Given the description of an element on the screen output the (x, y) to click on. 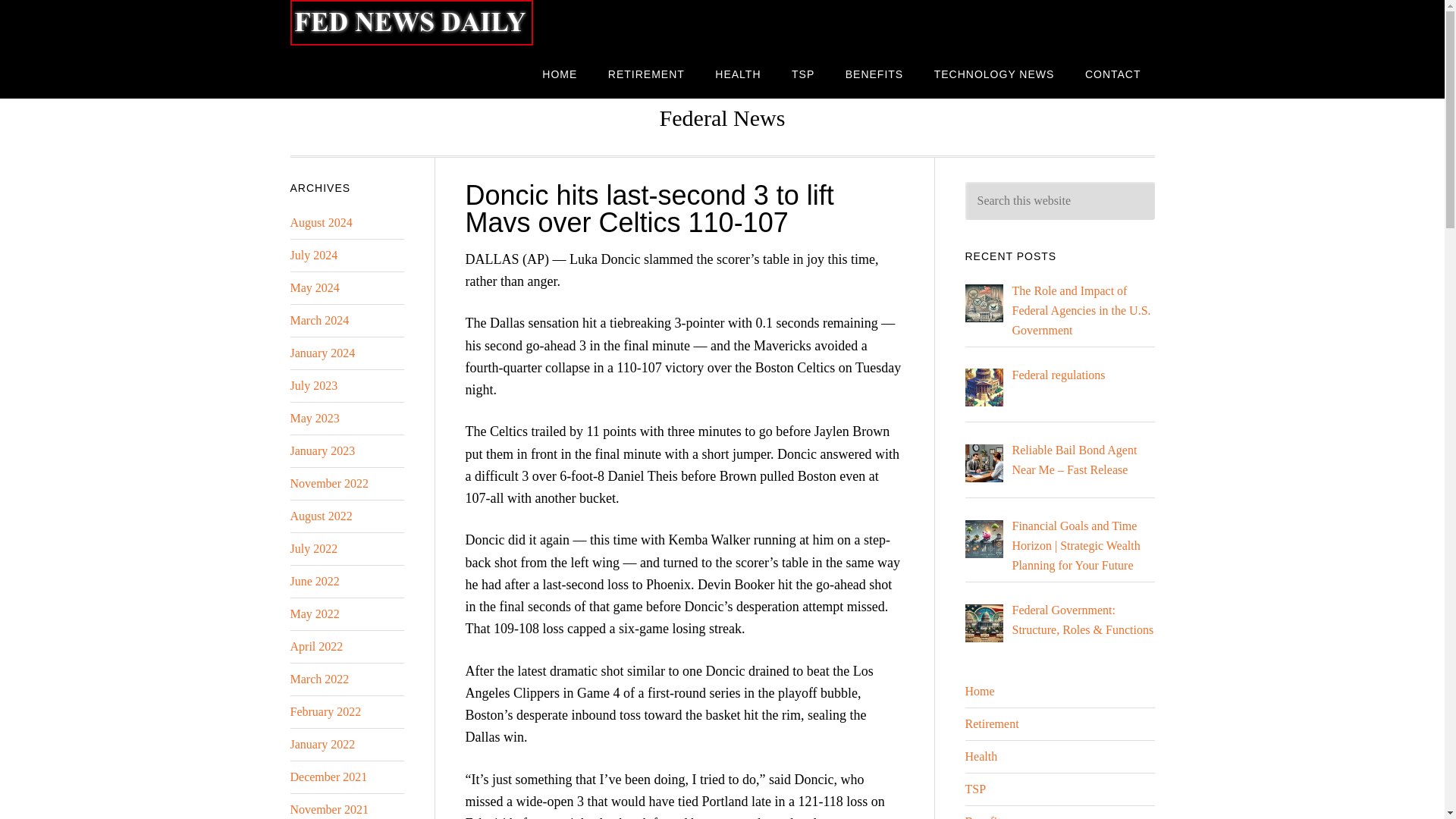
August 2024 (320, 222)
January 2024 (322, 352)
HEALTH (737, 73)
Health (980, 756)
Retirement (990, 723)
CONTACT (1112, 73)
Federal regulations (1058, 374)
